Given the description of an element on the screen output the (x, y) to click on. 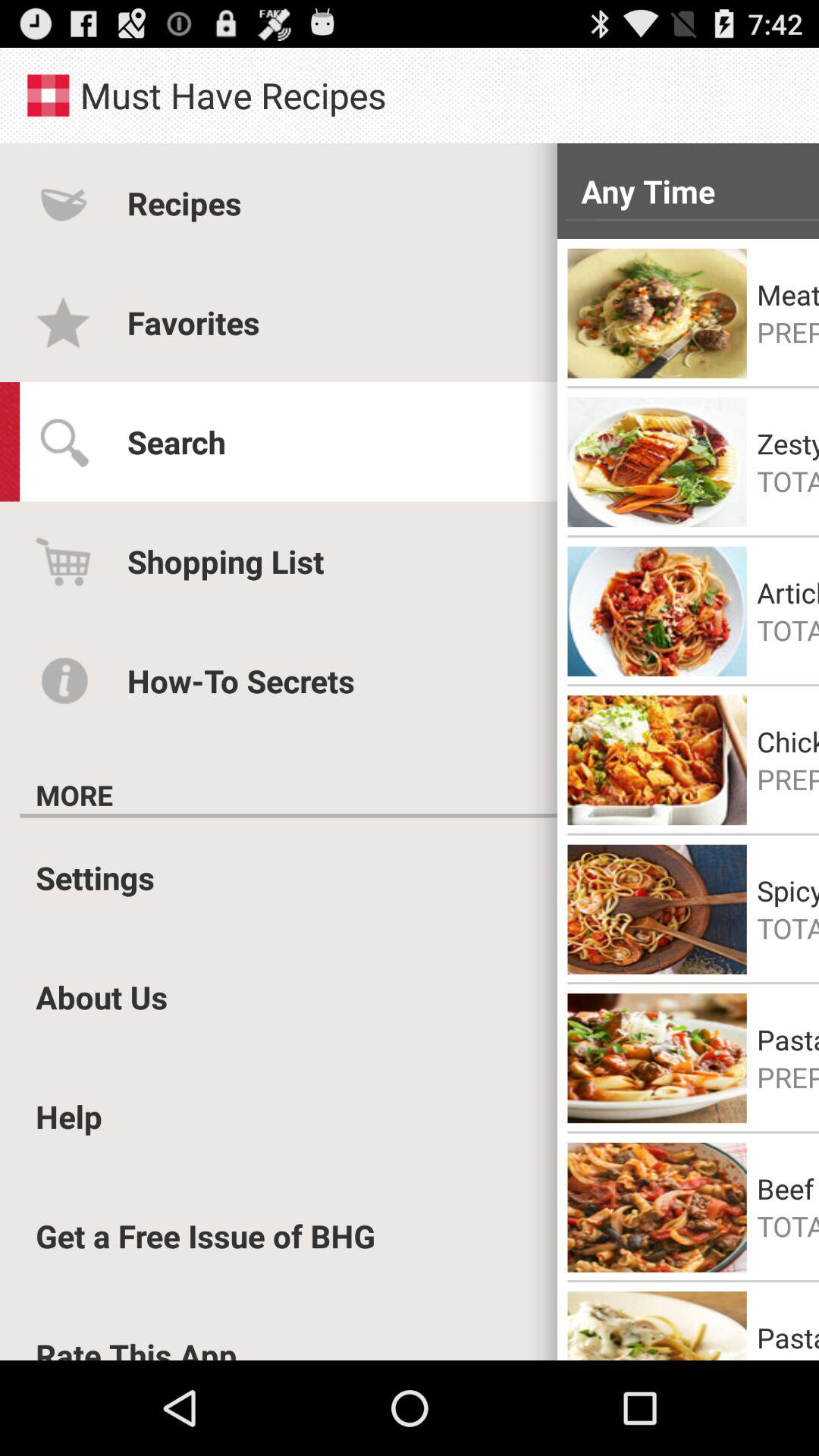
turn off the beef and pasta (788, 1188)
